Given the description of an element on the screen output the (x, y) to click on. 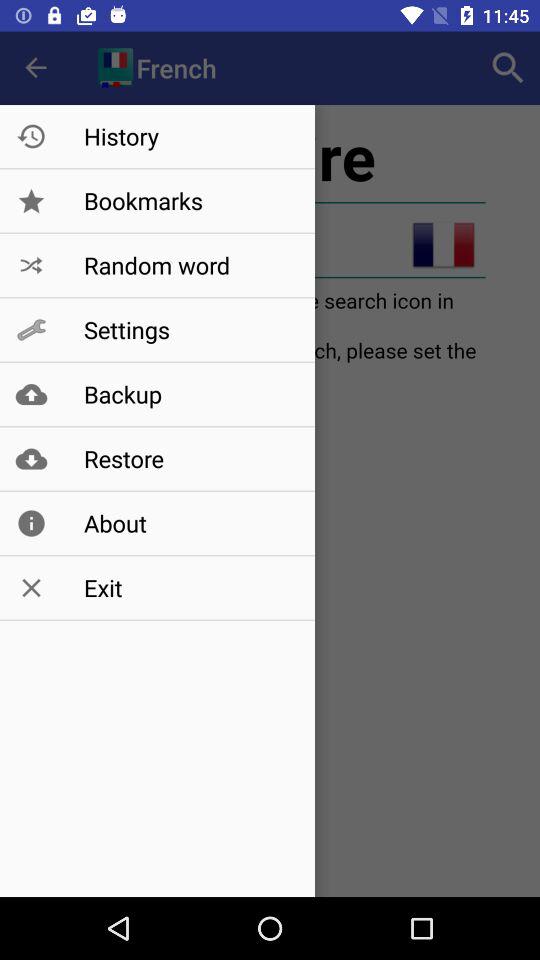
swipe until settings icon (188, 329)
